Given the description of an element on the screen output the (x, y) to click on. 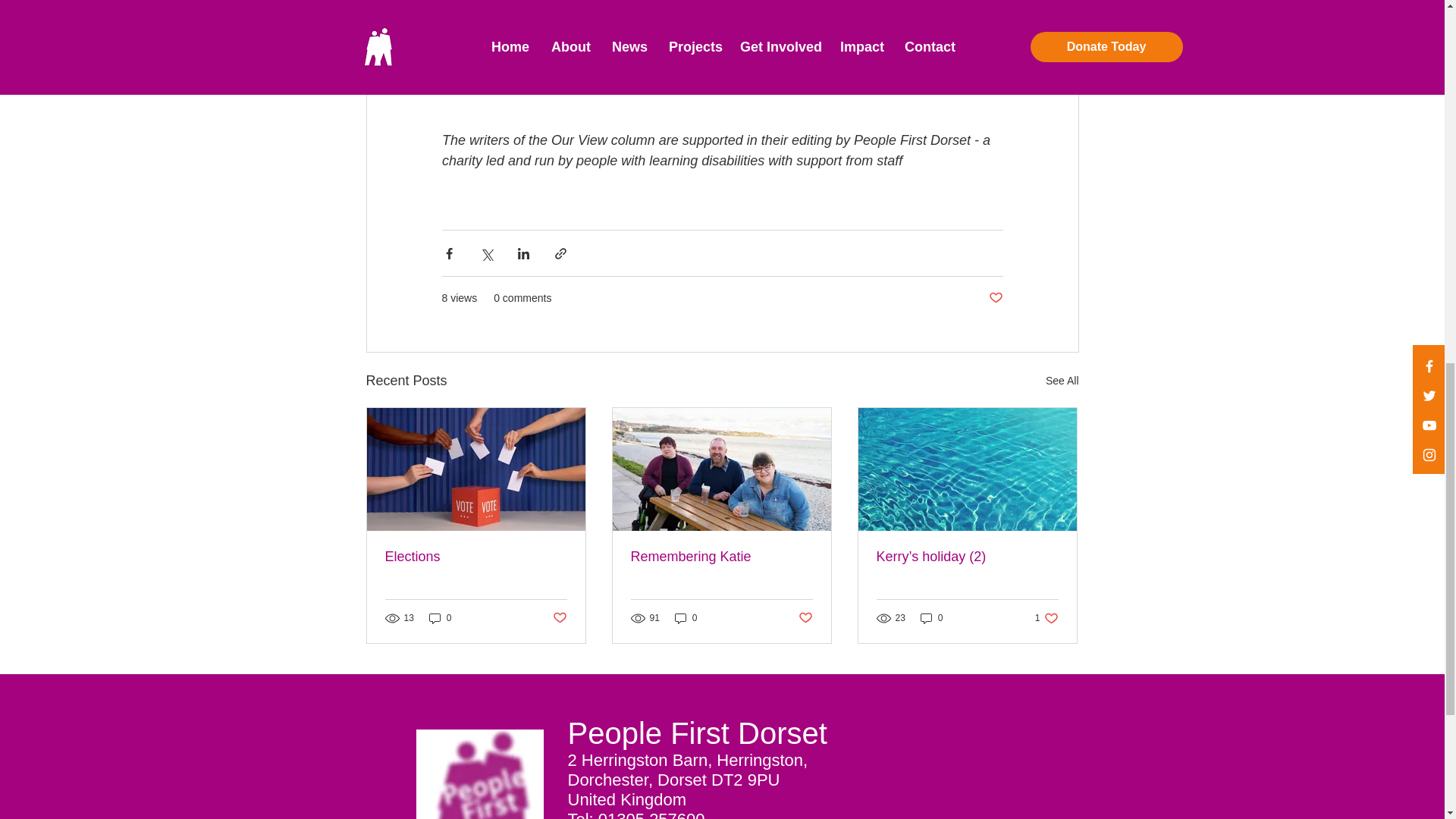
Post not marked as liked (995, 298)
